Given the description of an element on the screen output the (x, y) to click on. 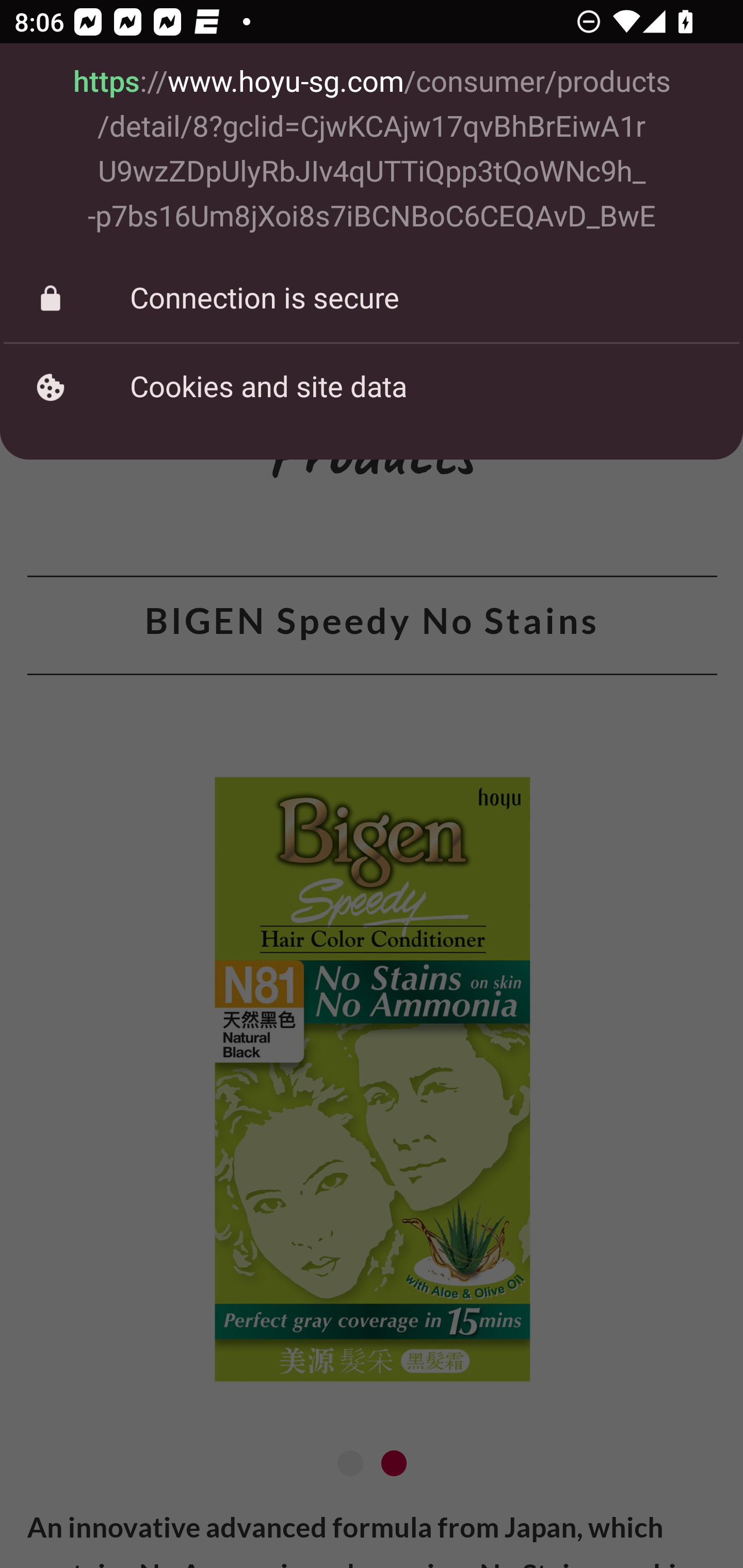
Connection is secure (371, 298)
Cookies and site data (371, 387)
